Given the description of an element on the screen output the (x, y) to click on. 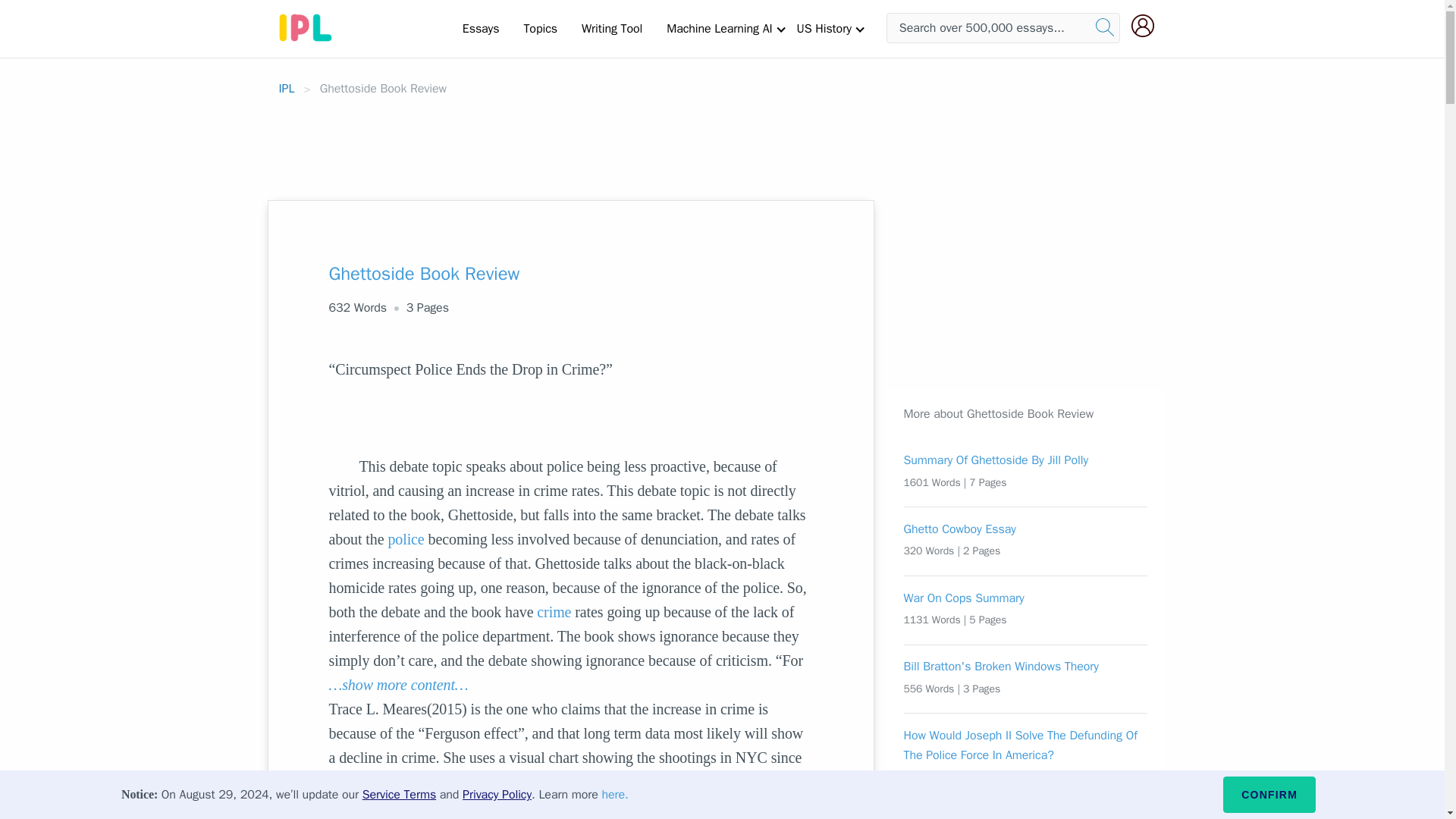
IPL (287, 88)
police (405, 538)
Writing Tool (611, 28)
Essays (480, 28)
Topics (540, 28)
US History (823, 28)
Machine Learning AI (718, 28)
crime (553, 611)
